Given the description of an element on the screen output the (x, y) to click on. 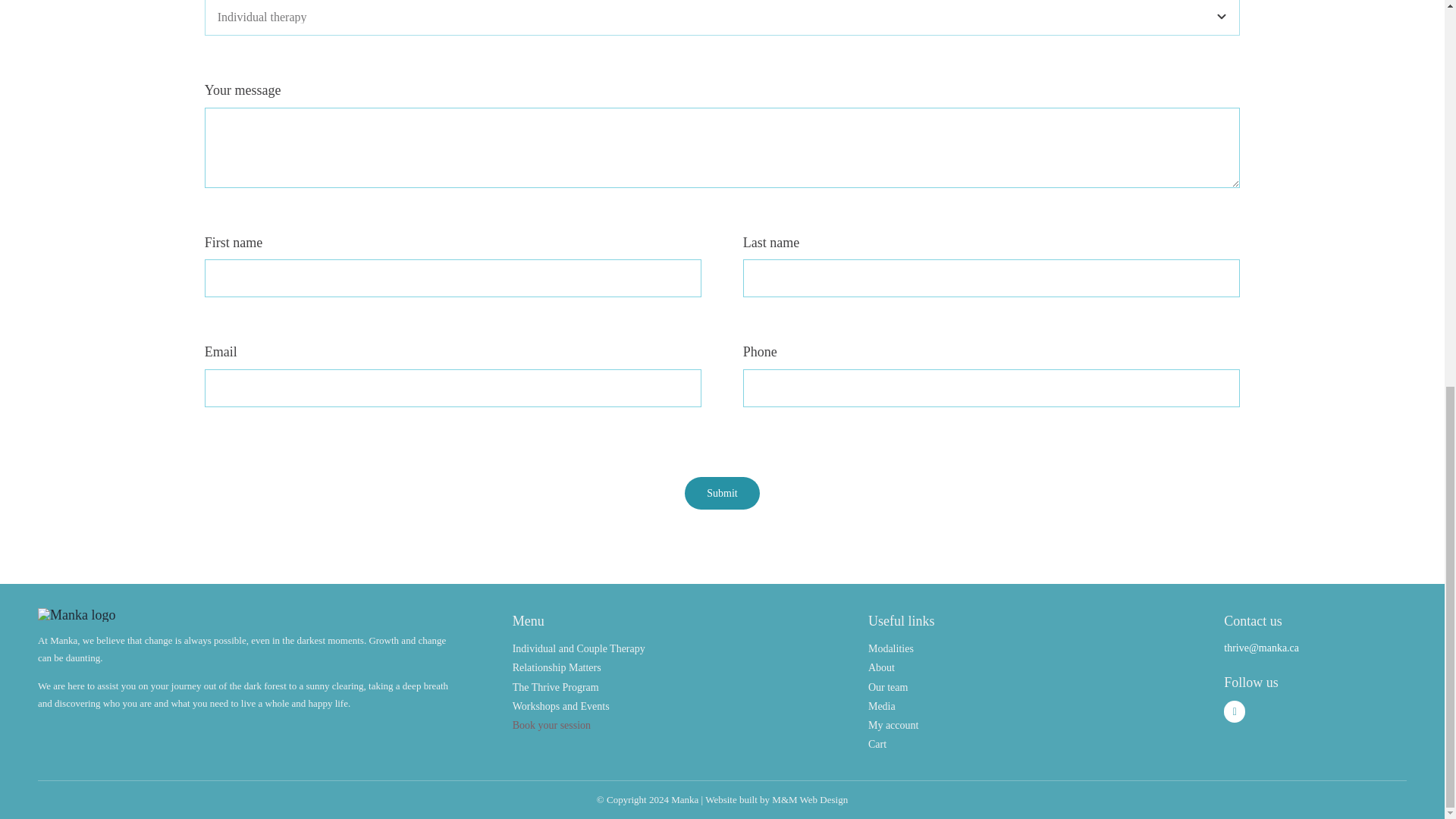
Submit (721, 492)
